Given the description of an element on the screen output the (x, y) to click on. 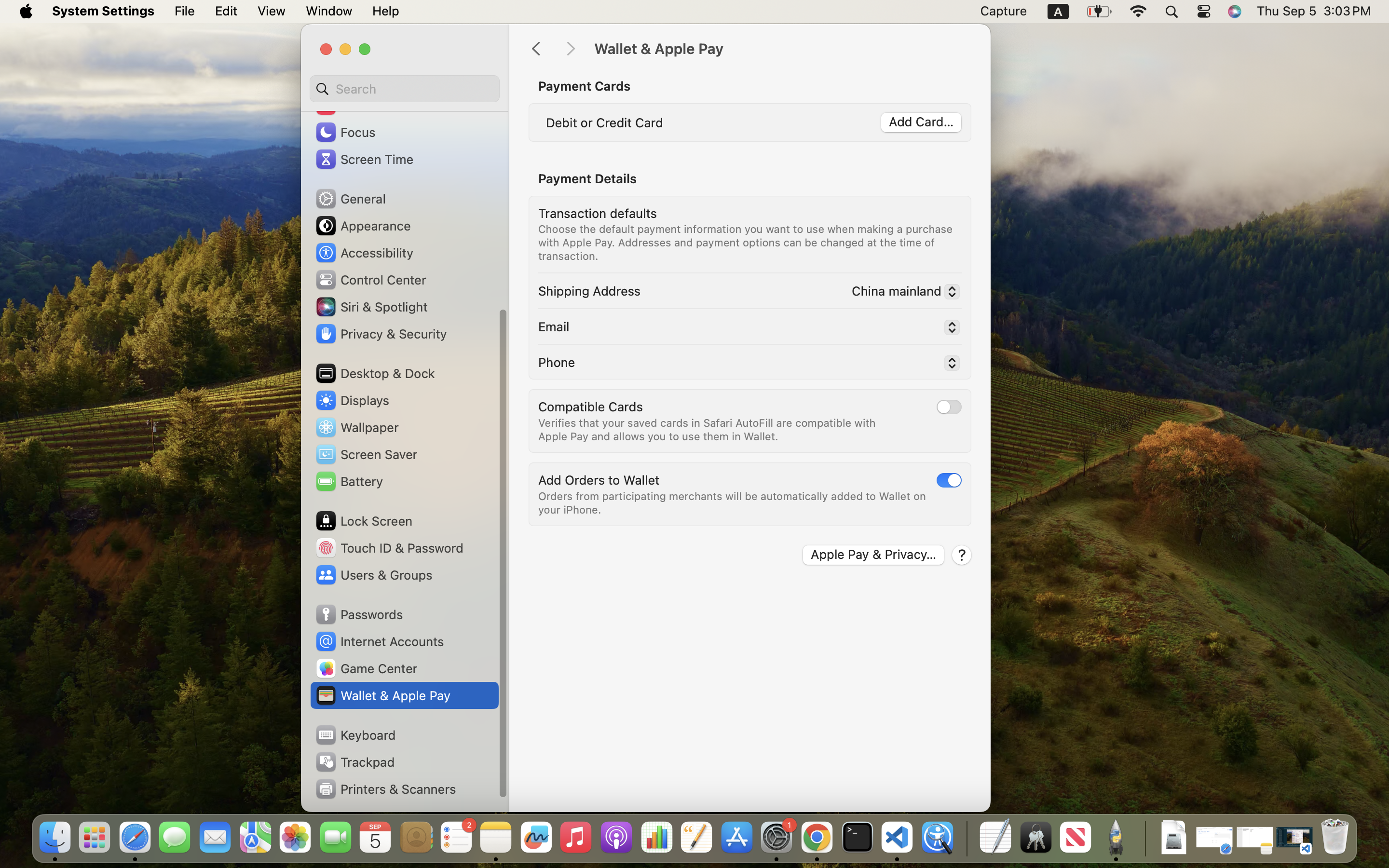
Verifies that your saved cards in Safari AutoFill are compatible with Apple Pay and allows you to use them in Wallet. Element type: AXStaticText (708, 428)
Shipping Address Element type: AXStaticText (589, 290)
Touch ID & Password Element type: AXStaticText (388, 547)
